Given the description of an element on the screen output the (x, y) to click on. 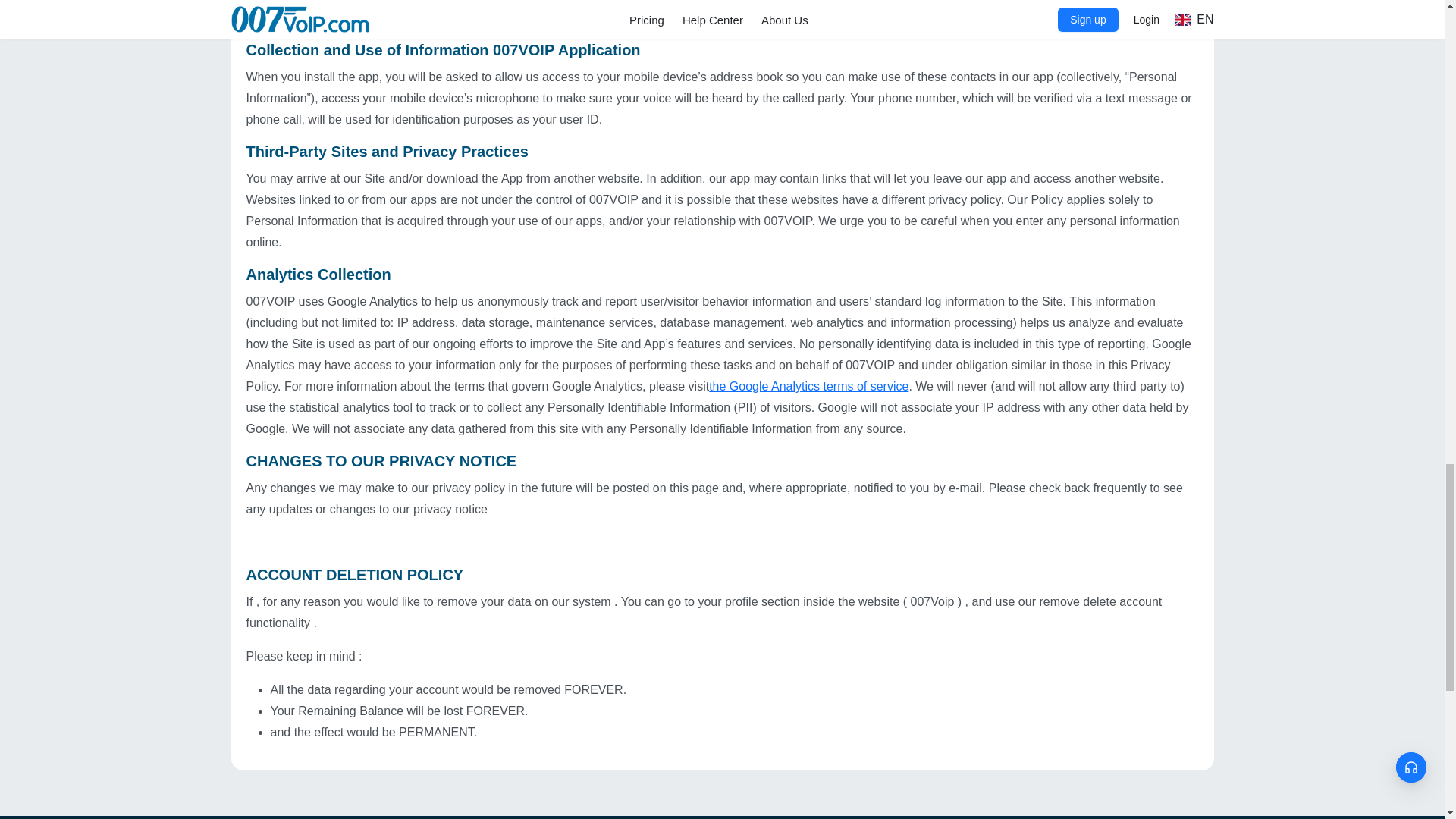
the Google Analytics terms of service (808, 386)
